Given the description of an element on the screen output the (x, y) to click on. 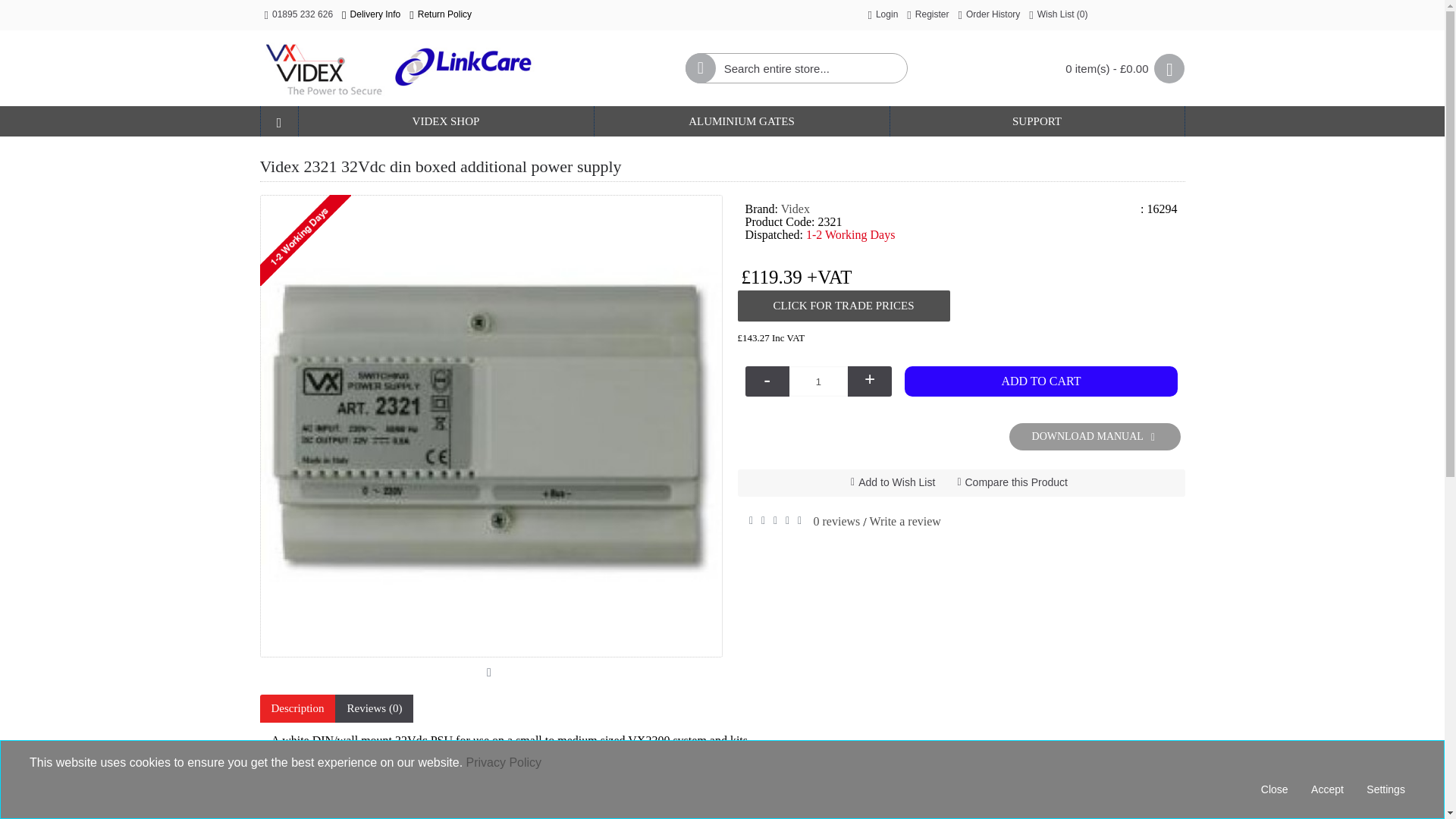
ALUMINIUM GATES (741, 121)
Videx (398, 67)
VIDEX SHOP (446, 121)
Videx (794, 208)
01895 232 626 (298, 15)
SUPPORT (1037, 121)
Order History (989, 15)
1 (818, 381)
Login (882, 15)
Register (927, 15)
